Given the description of an element on the screen output the (x, y) to click on. 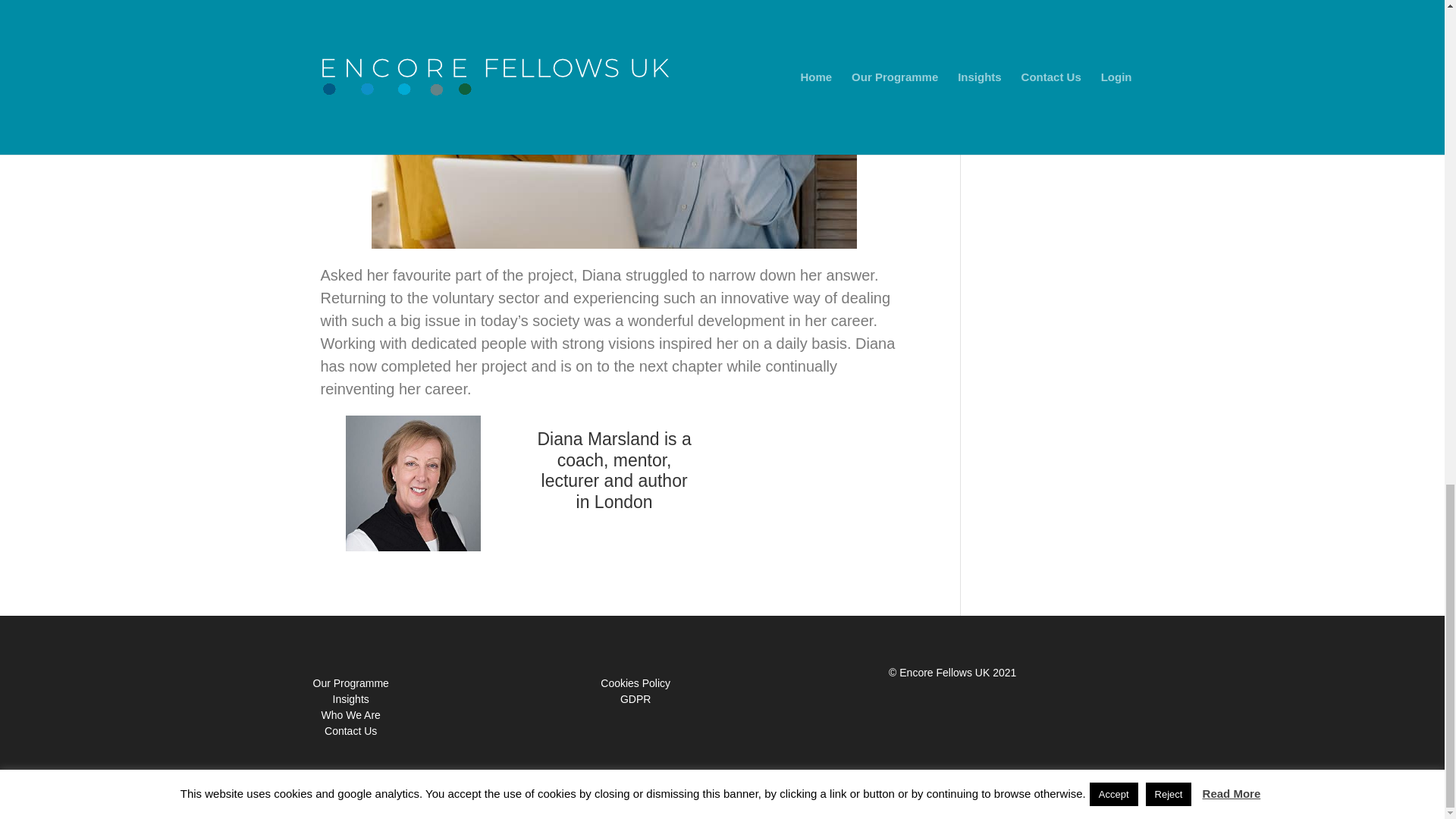
GDPR (635, 698)
Cookies Policy (634, 683)
Contact Us (350, 730)
Who We Are (350, 715)
Our Programme (350, 683)
Insights (351, 698)
